Given the description of an element on the screen output the (x, y) to click on. 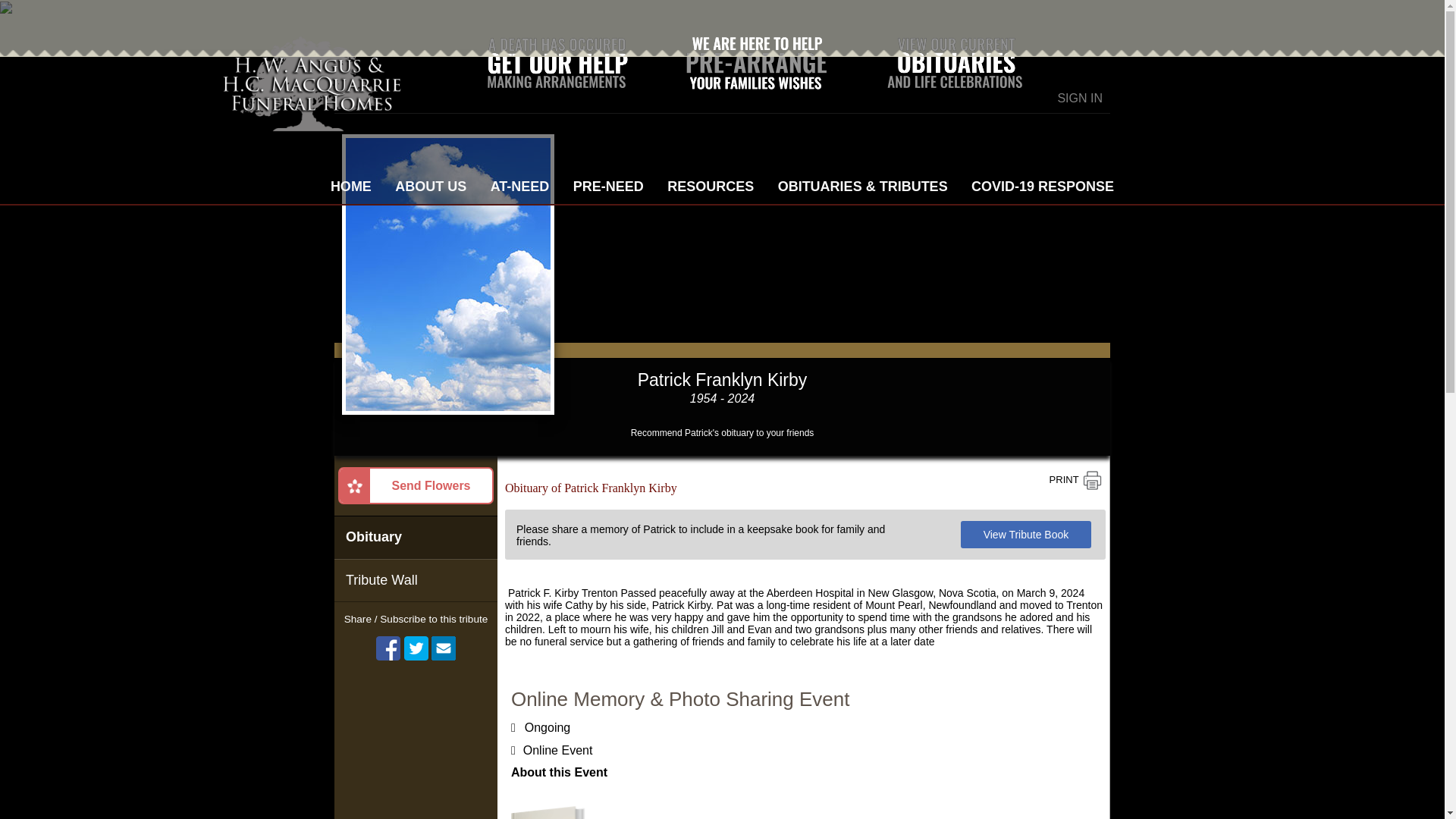
SIGN IN (1079, 97)
Tribute Wall (415, 580)
ABOUT US (430, 180)
PRE-NEED (607, 180)
Receive Notifications (442, 648)
RESOURCES (710, 180)
Print (1075, 479)
Twitter (415, 648)
HOME (350, 180)
AT-NEED (519, 180)
Obituary (415, 536)
COVID-19 RESPONSE (1041, 180)
Facebook (387, 648)
Send Flowers (415, 485)
